Given the description of an element on the screen output the (x, y) to click on. 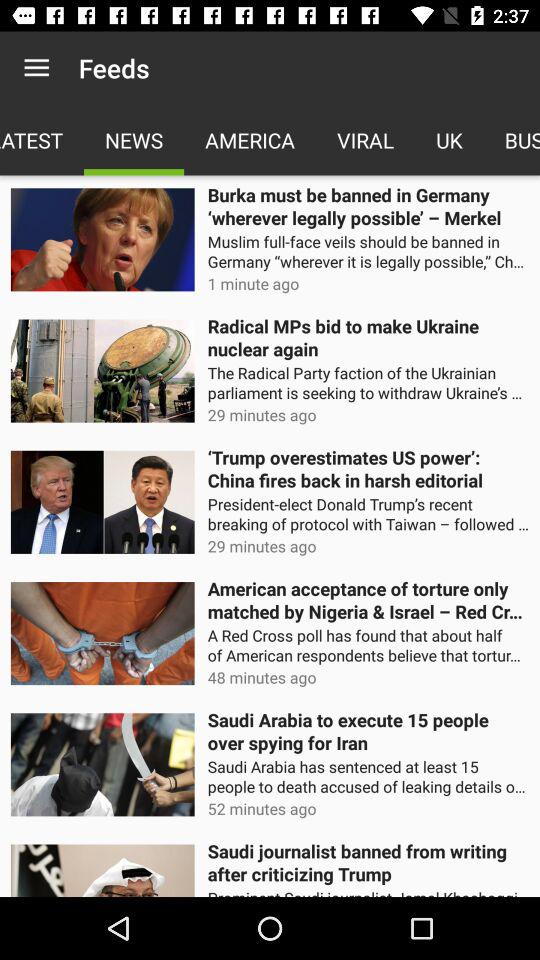
select icon to the right of news (250, 140)
